Given the description of an element on the screen output the (x, y) to click on. 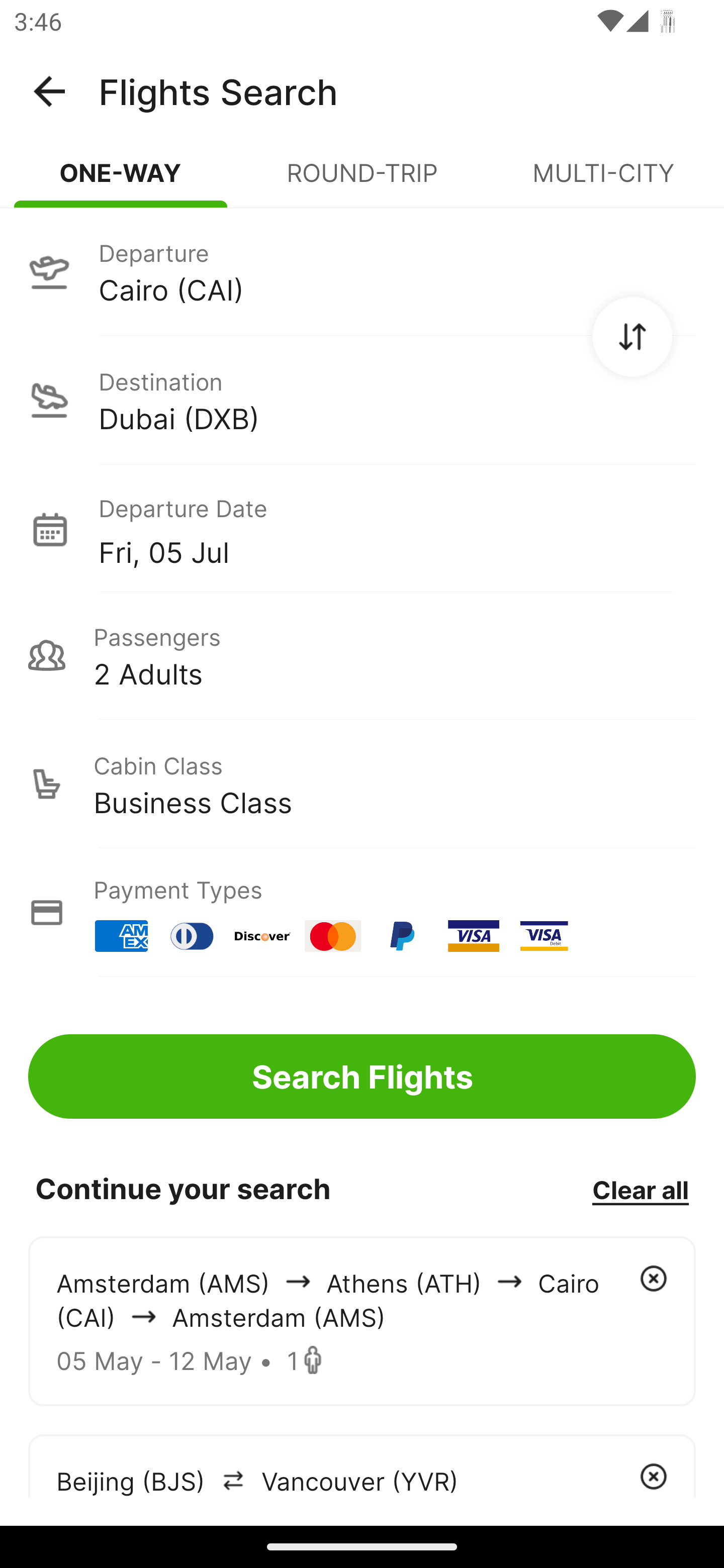
ONE-WAY (120, 180)
ROUND-TRIP (361, 180)
MULTI-CITY (603, 180)
Departure Cairo (CAI) (362, 270)
Destination Dubai (DXB) (362, 400)
Departure Date Fri, 05 Jul (396, 528)
Passengers 2 Adults (362, 655)
Cabin Class Business Class (362, 783)
Payment Types (362, 912)
Search Flights (361, 1075)
Clear all (640, 1189)
Beijing (BJS)  arrowIcon  Vancouver (YVR) (361, 1465)
